Given the description of an element on the screen output the (x, y) to click on. 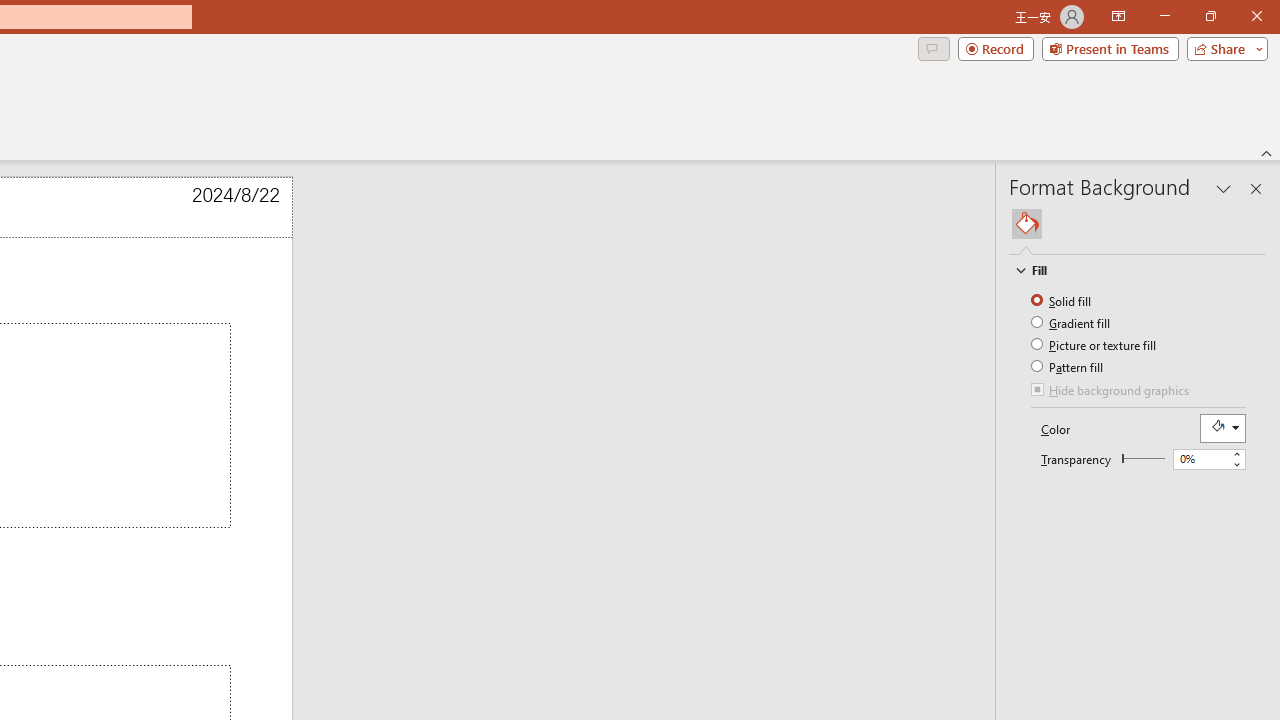
Pattern fill (1068, 366)
Page right (1146, 458)
Transparency (1208, 459)
Fill Color RGB(255, 255, 255) (1222, 427)
Hide background graphics (1111, 391)
Transparency (1143, 458)
